Given the description of an element on the screen output the (x, y) to click on. 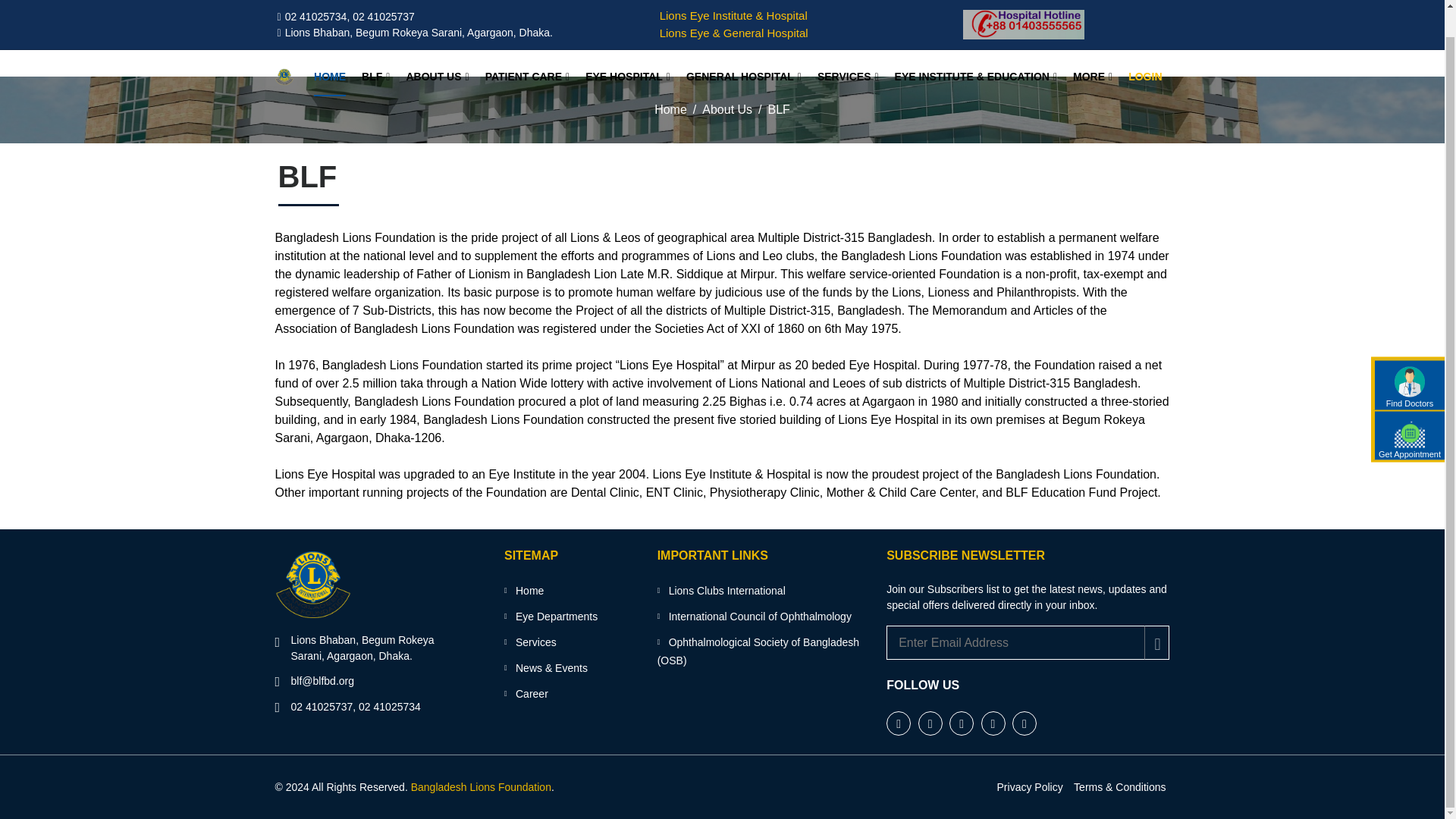
PATIENT CARE (527, 49)
ABOUT US (437, 49)
Subscribe (1156, 642)
EYE HOSPITAL (627, 49)
HOME (330, 49)
BLF (375, 49)
